Given the description of an element on the screen output the (x, y) to click on. 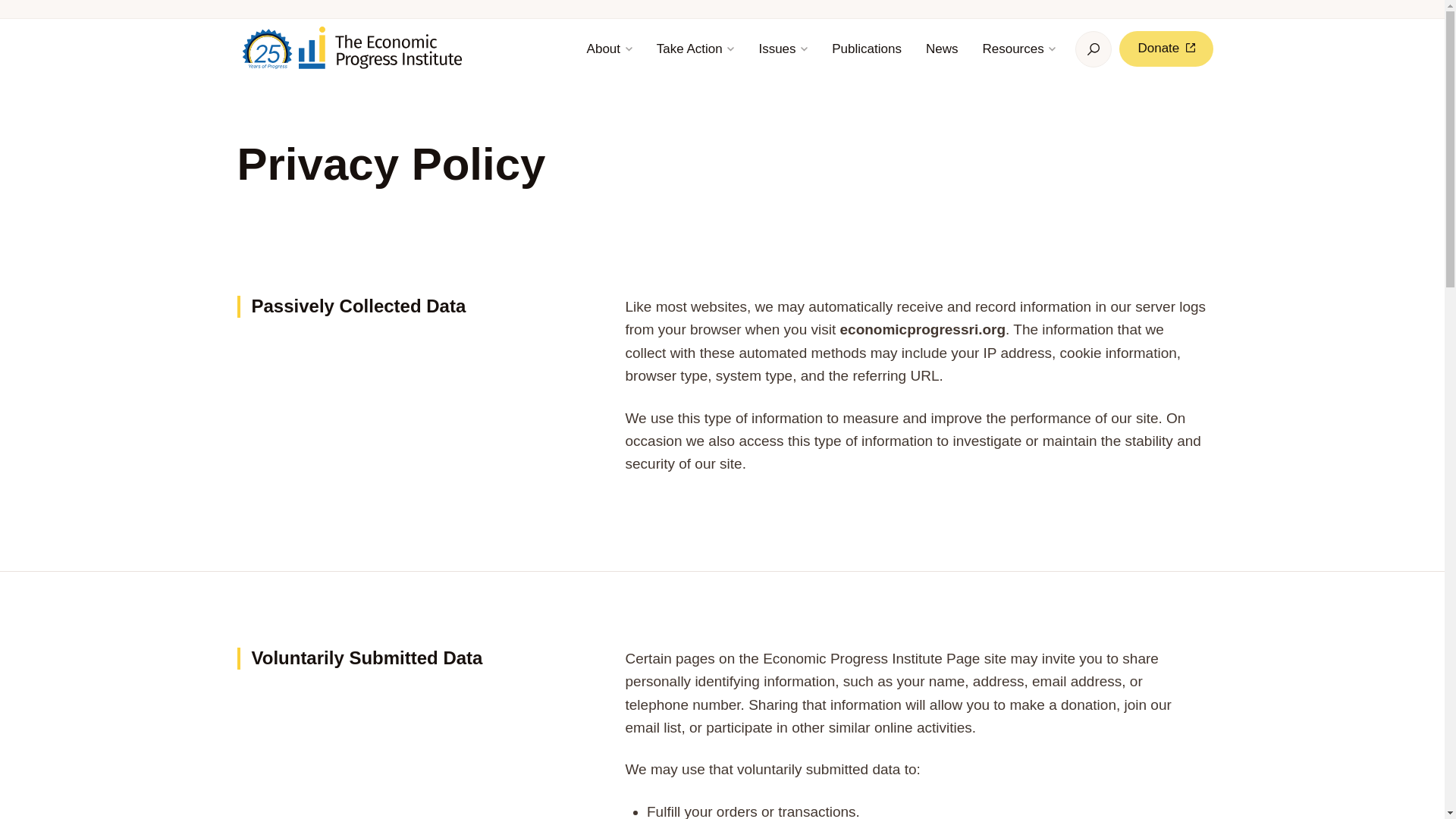
Publications (865, 48)
About (609, 48)
Take Action (695, 48)
Resources (1018, 48)
Donate (1165, 48)
Issues (783, 48)
News (941, 48)
